Given the description of an element on the screen output the (x, y) to click on. 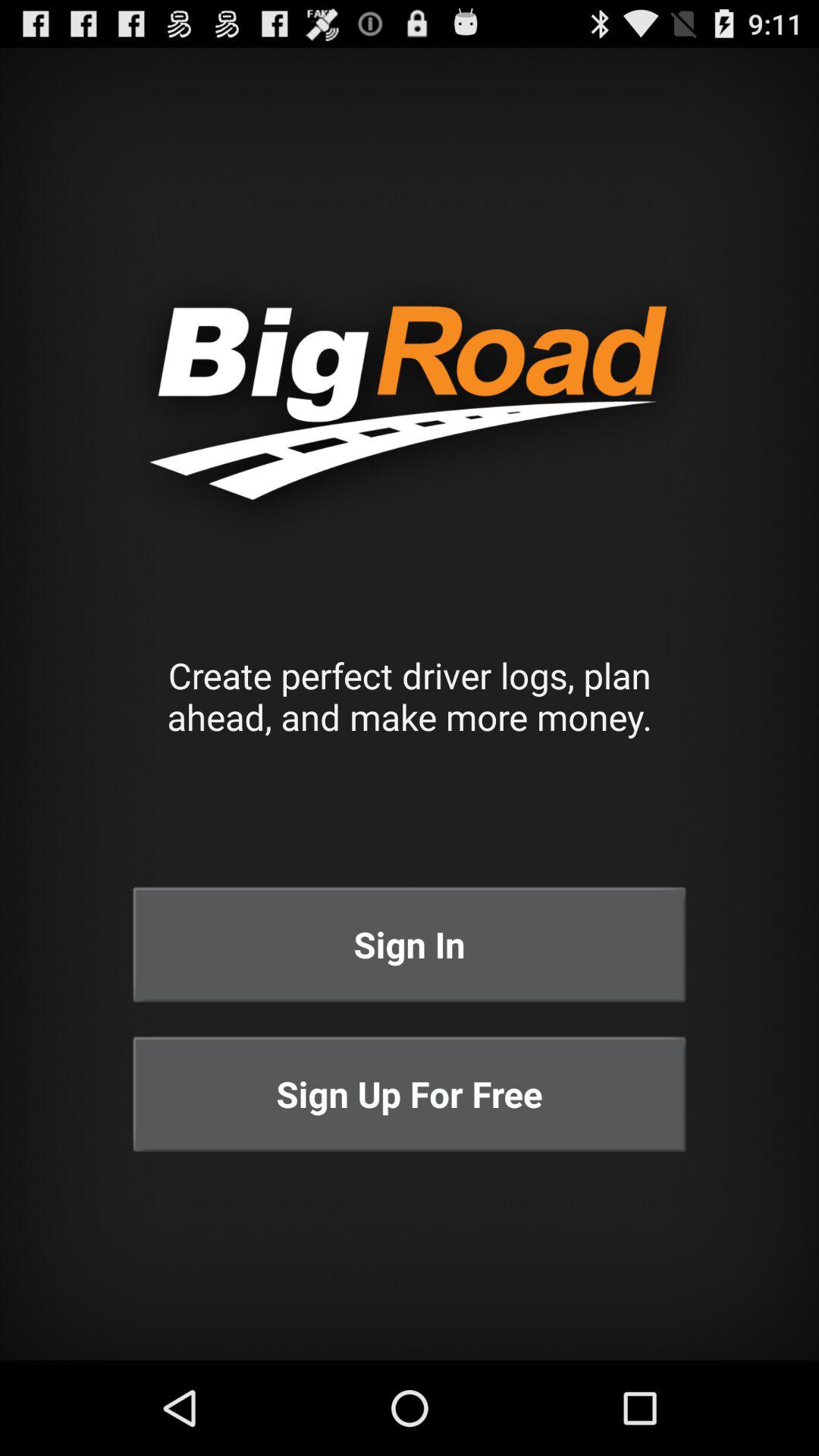
turn on the icon above the sign up for (409, 944)
